Given the description of an element on the screen output the (x, y) to click on. 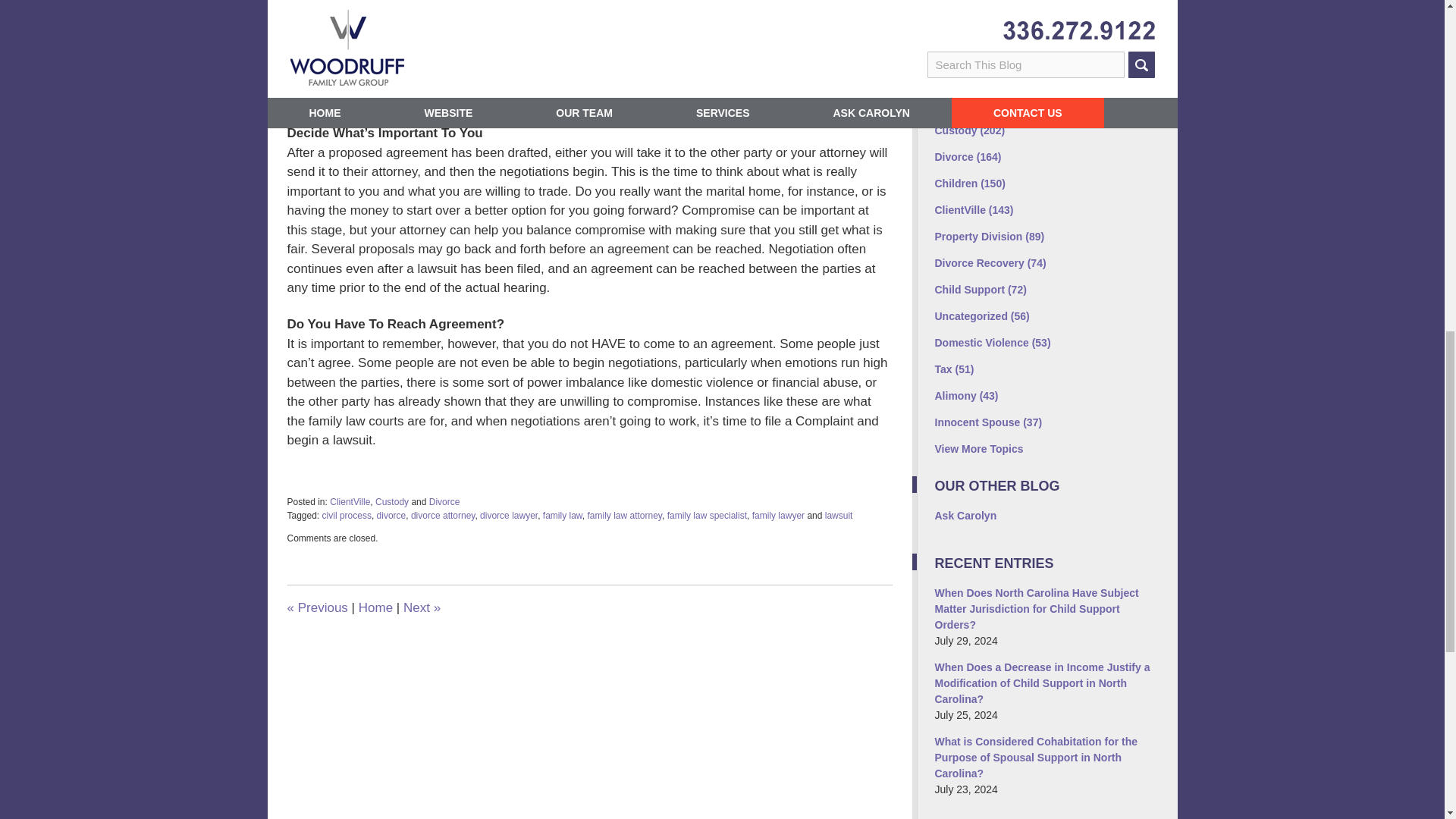
family lawyer (778, 515)
Divorce (444, 501)
View all posts tagged with divorce lawyer (508, 515)
View all posts in Custody (392, 501)
View all posts tagged with divorce attorney (443, 515)
Custody (392, 501)
family law (562, 515)
View all posts tagged with civil process (346, 515)
View all posts in Divorce (444, 501)
Disability Payments and Equitable Distribution (316, 607)
family law specialist (706, 515)
View all posts tagged with divorce (391, 515)
View all posts tagged with family law attorney (623, 515)
Facebook (949, 31)
divorce lawyer (508, 515)
